Given the description of an element on the screen output the (x, y) to click on. 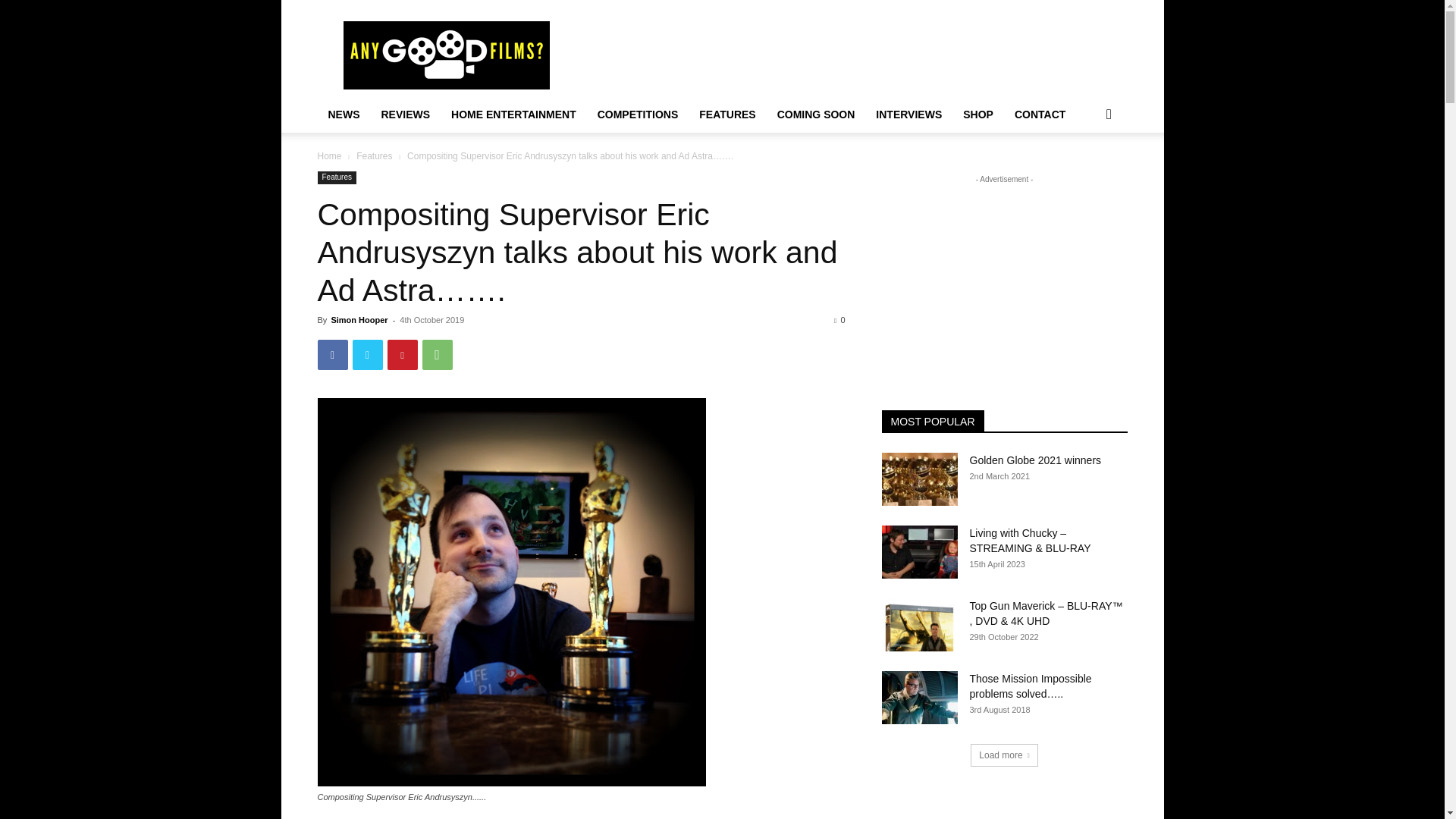
SHOP (978, 114)
Features (336, 177)
INTERVIEWS (908, 114)
Facebook (332, 354)
WhatsApp (436, 354)
Twitter (366, 354)
View all posts in Features (373, 155)
HOME ENTERTAINMENT (513, 114)
Pinterest (401, 354)
Features (373, 155)
COMING SOON (816, 114)
COMPETITIONS (637, 114)
Home (328, 155)
Search (1085, 174)
